Given the description of an element on the screen output the (x, y) to click on. 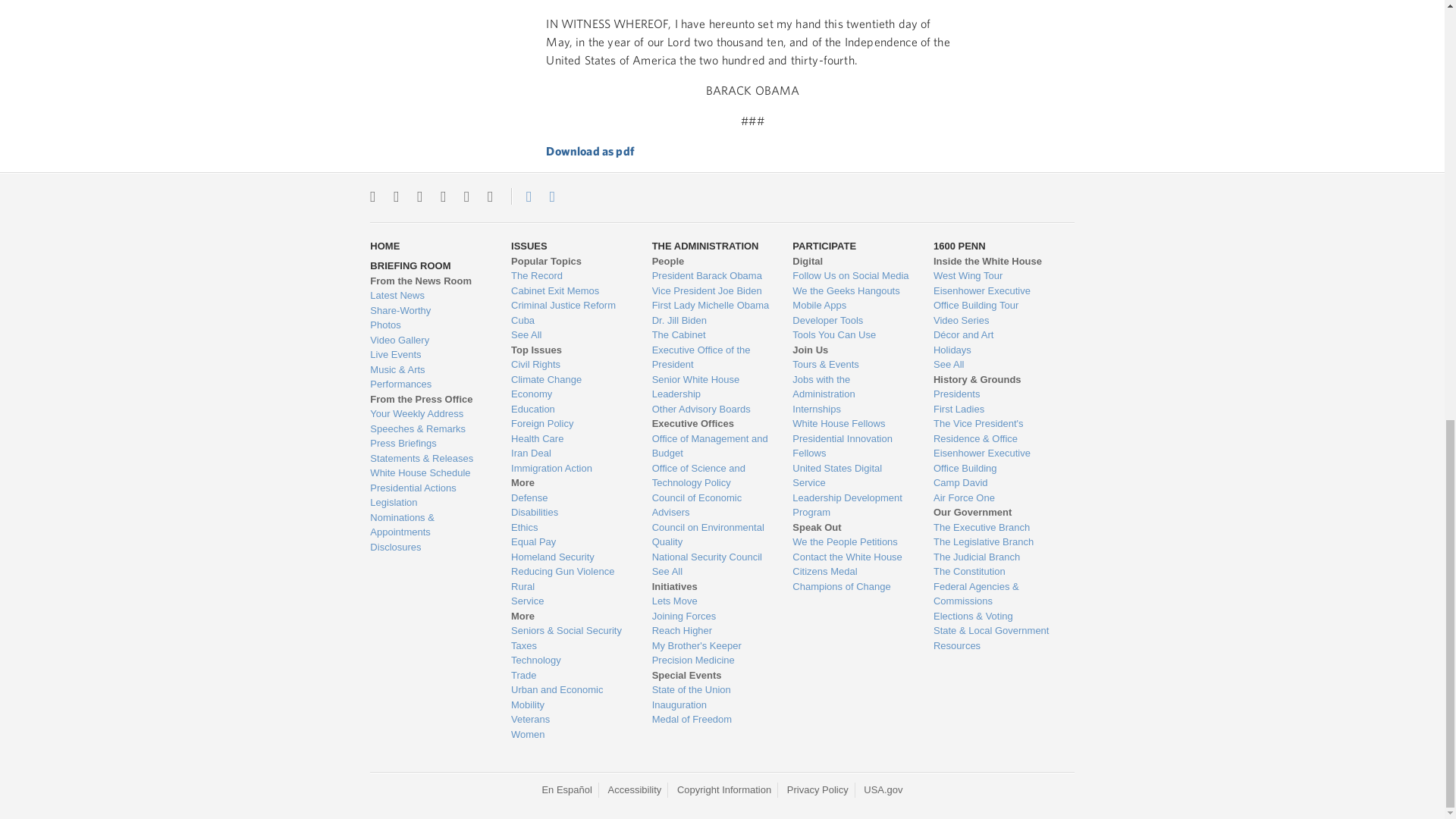
Read the latest blog posts from 1600 Pennsylvania Ave (428, 295)
Watch behind-the-scenes videos and more (428, 340)
Check out the most popular infographics and videos (428, 310)
View the photo of the day and other galleries (428, 324)
Contact the Whitehouse. (521, 196)
